Given the description of an element on the screen output the (x, y) to click on. 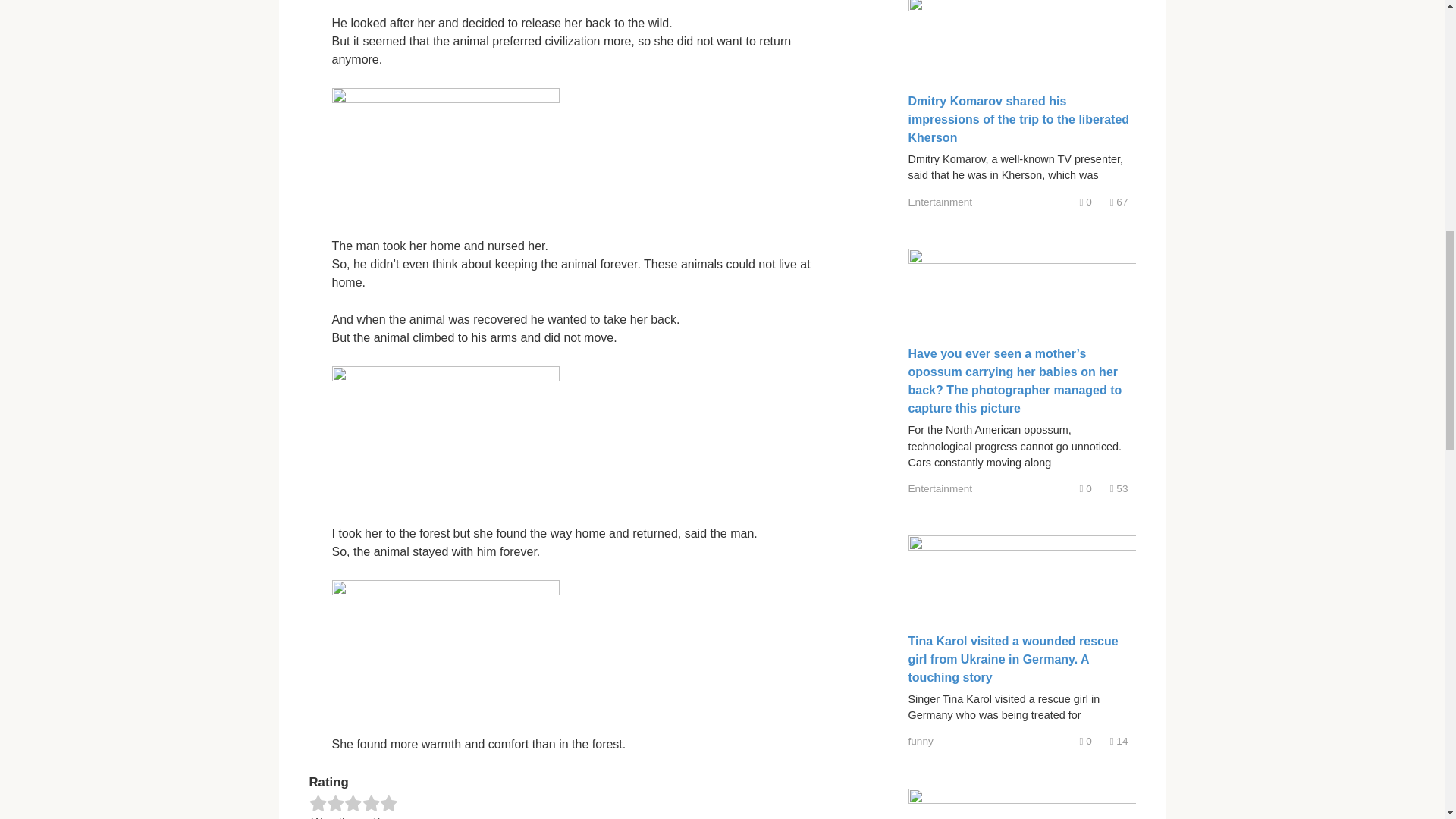
Entertainment (940, 488)
Entertainment (940, 202)
